Given the description of an element on the screen output the (x, y) to click on. 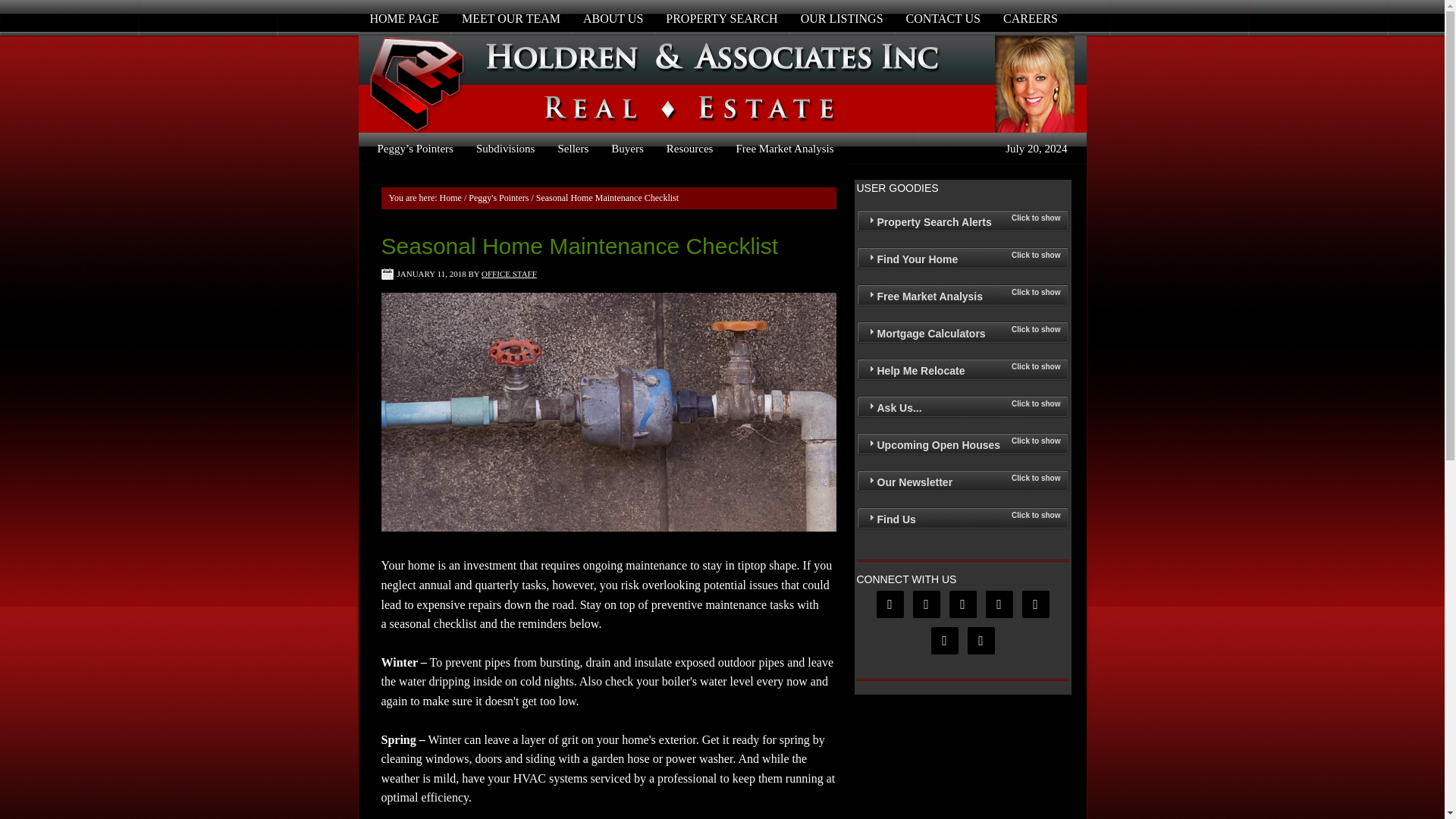
CAREERS (1029, 18)
Home (450, 197)
ABOUT US (612, 18)
Sellers (572, 148)
Buyers (627, 148)
MEET OUR TEAM (510, 18)
Peggy's Pointers (498, 197)
CONTACT US (943, 18)
Resources (690, 148)
OUR LISTINGS (842, 18)
Subdivisions (505, 148)
Free Market Analysis (783, 148)
PROPERTY SEARCH (721, 18)
HOME PAGE (403, 18)
